Given the description of an element on the screen output the (x, y) to click on. 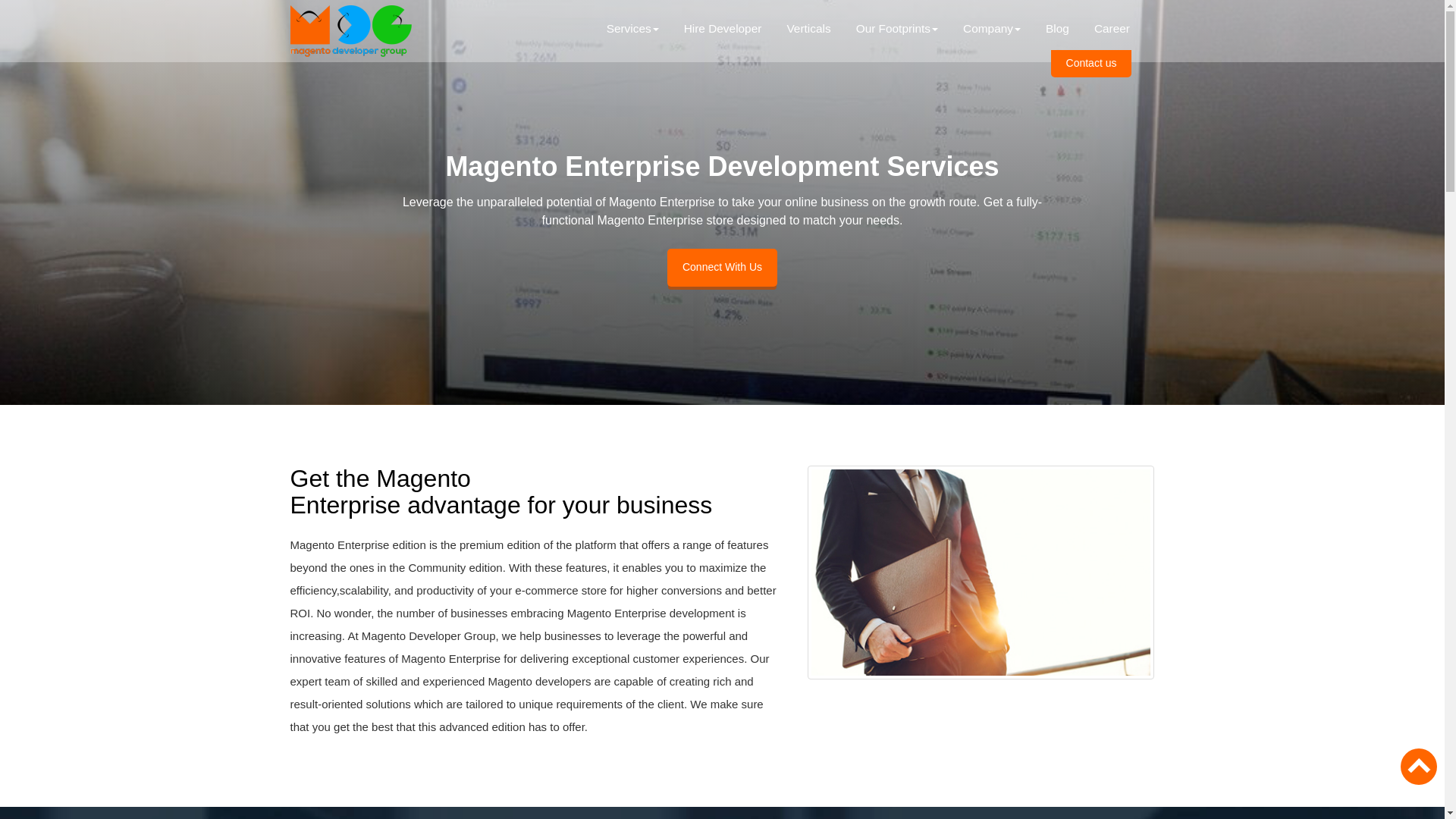
Services (632, 28)
Verticals (807, 28)
Blog (1056, 28)
Our Footprints (896, 28)
Hire Developer (722, 28)
Company (992, 28)
Career (1112, 28)
Contact us (1091, 62)
